Given the description of an element on the screen output the (x, y) to click on. 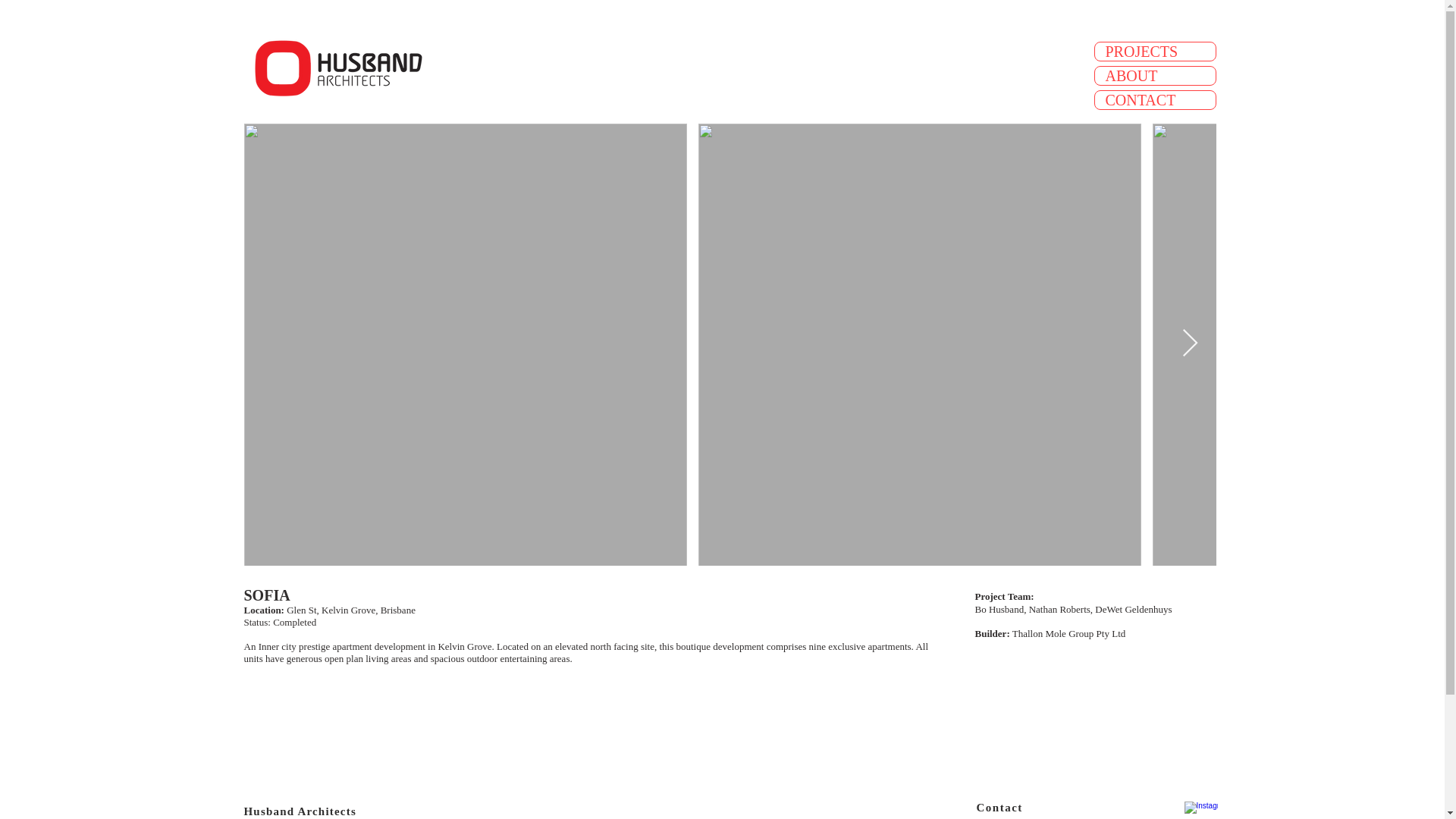
ABOUT (1154, 75)
PROJECTS (1154, 51)
CONTACT (1154, 99)
